Given the description of an element on the screen output the (x, y) to click on. 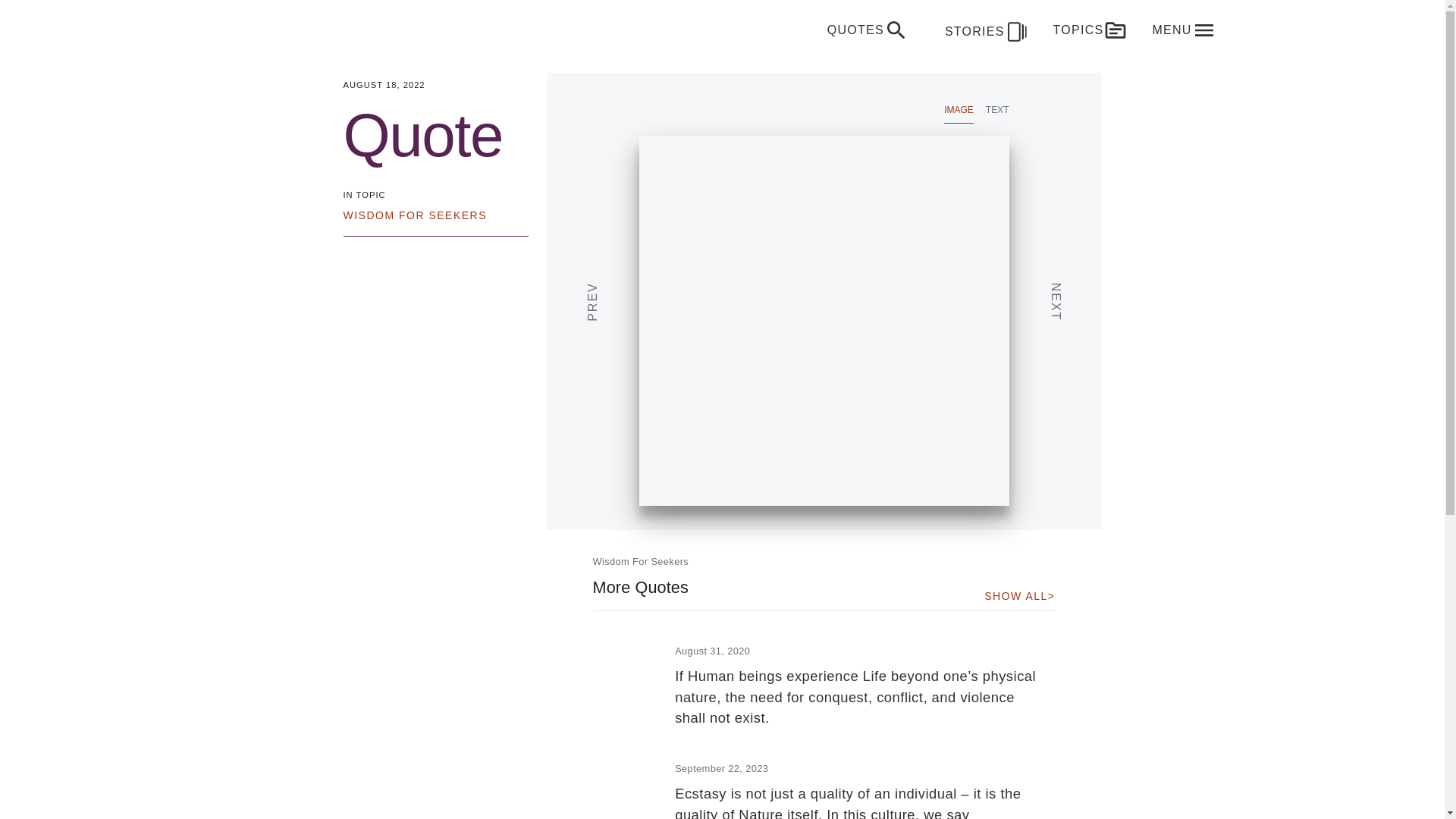
QUOTES (867, 30)
PREV (630, 263)
WISDOM FOR SEEKERS (414, 215)
STORIES (981, 30)
TOPICS (1090, 30)
NEXT (1092, 263)
MENU (1183, 30)
